Given the description of an element on the screen output the (x, y) to click on. 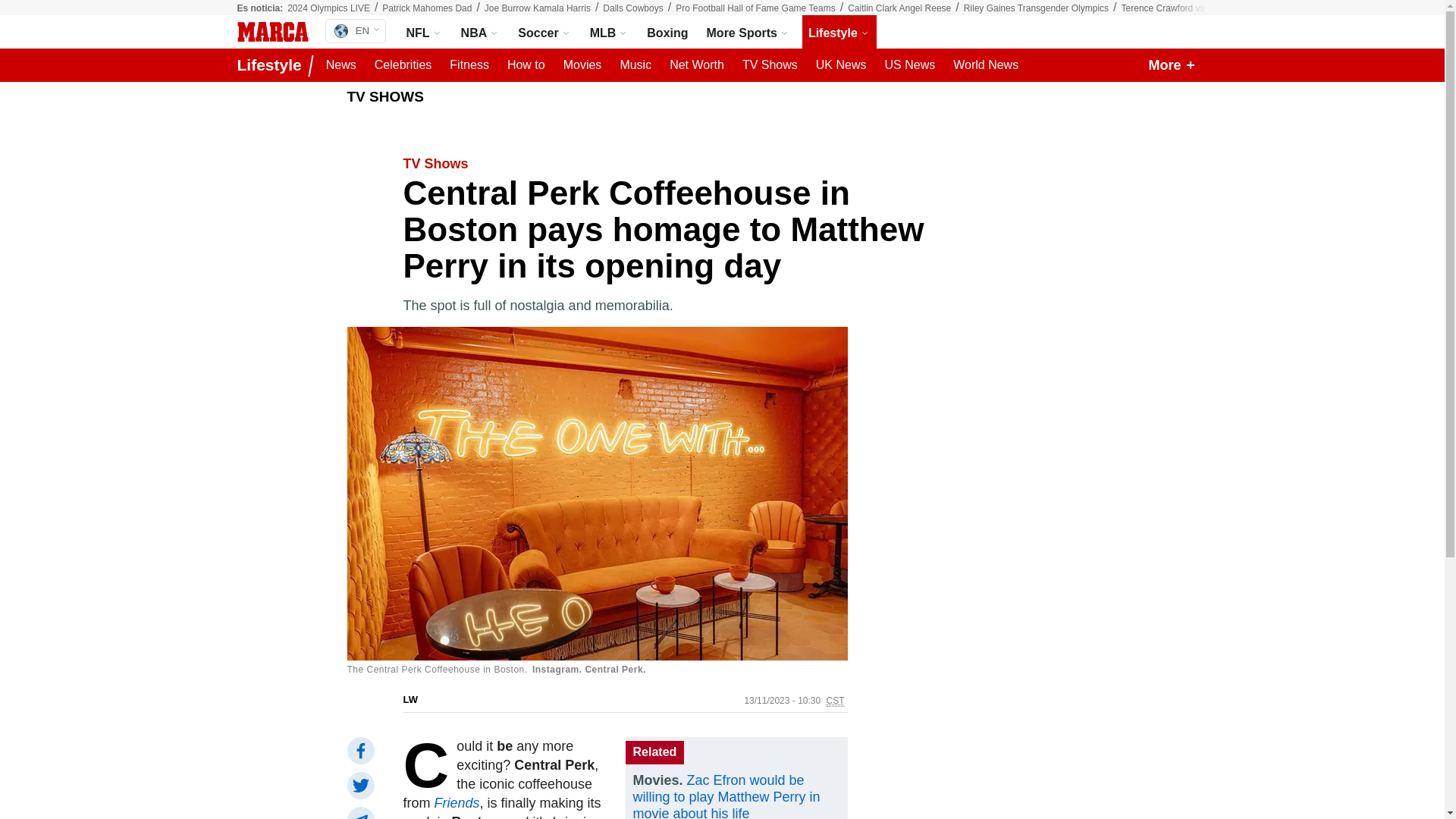
Boxing (667, 31)
News (341, 64)
MLB (608, 31)
US News (908, 64)
Lifestyle (839, 31)
Music (635, 64)
News (341, 64)
Boxing (354, 30)
Terence Crawford vs Madrimov Odds (667, 31)
Celebrities (1196, 8)
Soccer (403, 64)
Celebrities (544, 31)
How to (403, 64)
TV Shows (525, 64)
